Given the description of an element on the screen output the (x, y) to click on. 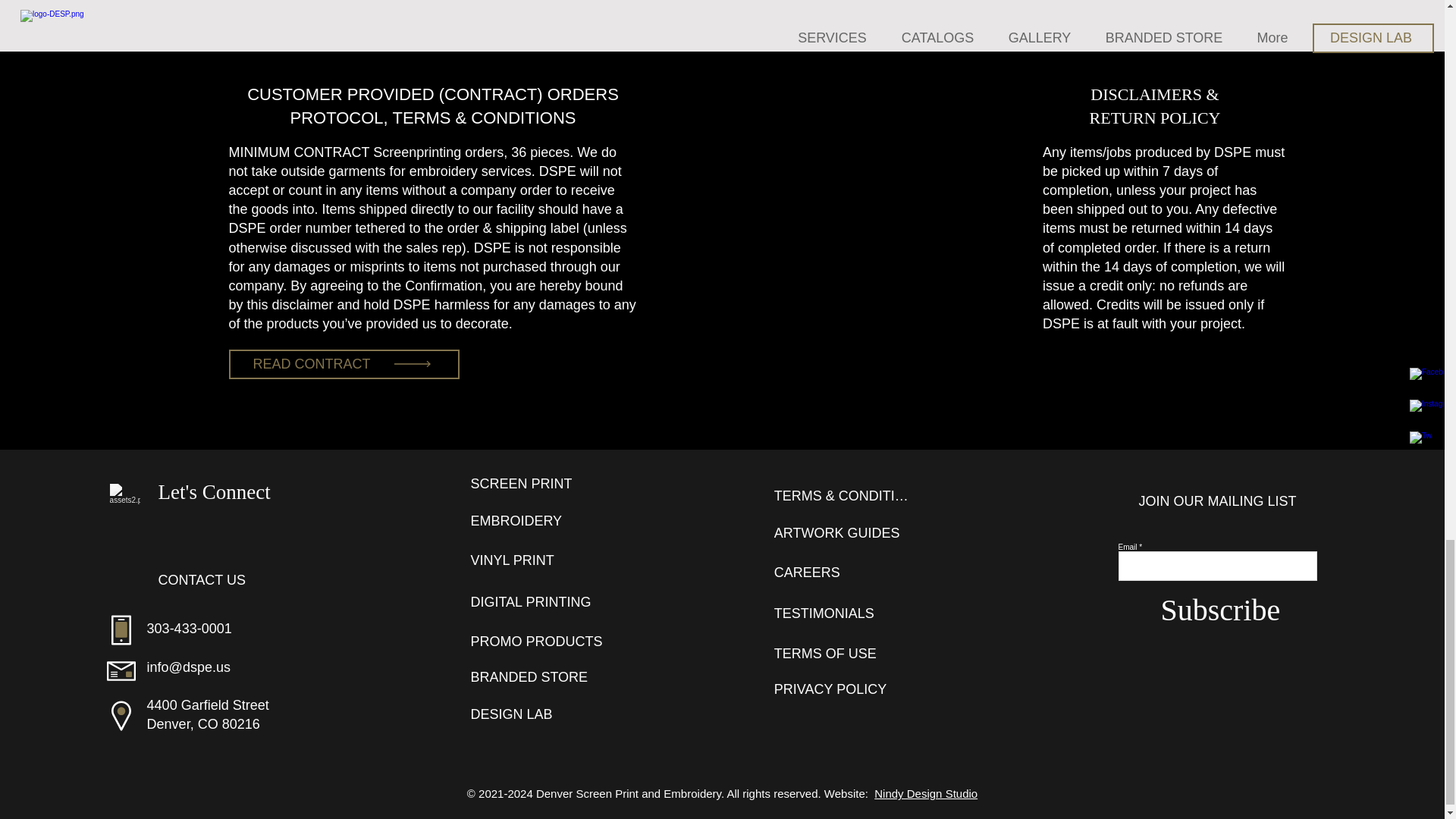
CONTACT US (220, 580)
Subscribe (1220, 610)
BRANDED STORE (540, 676)
EMBROIDERY (540, 521)
PRIVACY POLICY (844, 689)
TESTIMONIALS (844, 613)
SCREEN PRINT (540, 483)
VINYL PRINT (540, 560)
READ CONTRACT (344, 364)
PROMO PRODUCTS (540, 641)
CAREERS (844, 572)
TERMS OF USE (844, 653)
DESIGN LAB (540, 714)
ARTWORK GUIDES (844, 532)
DIGITAL PRINTING (540, 602)
